Given the description of an element on the screen output the (x, y) to click on. 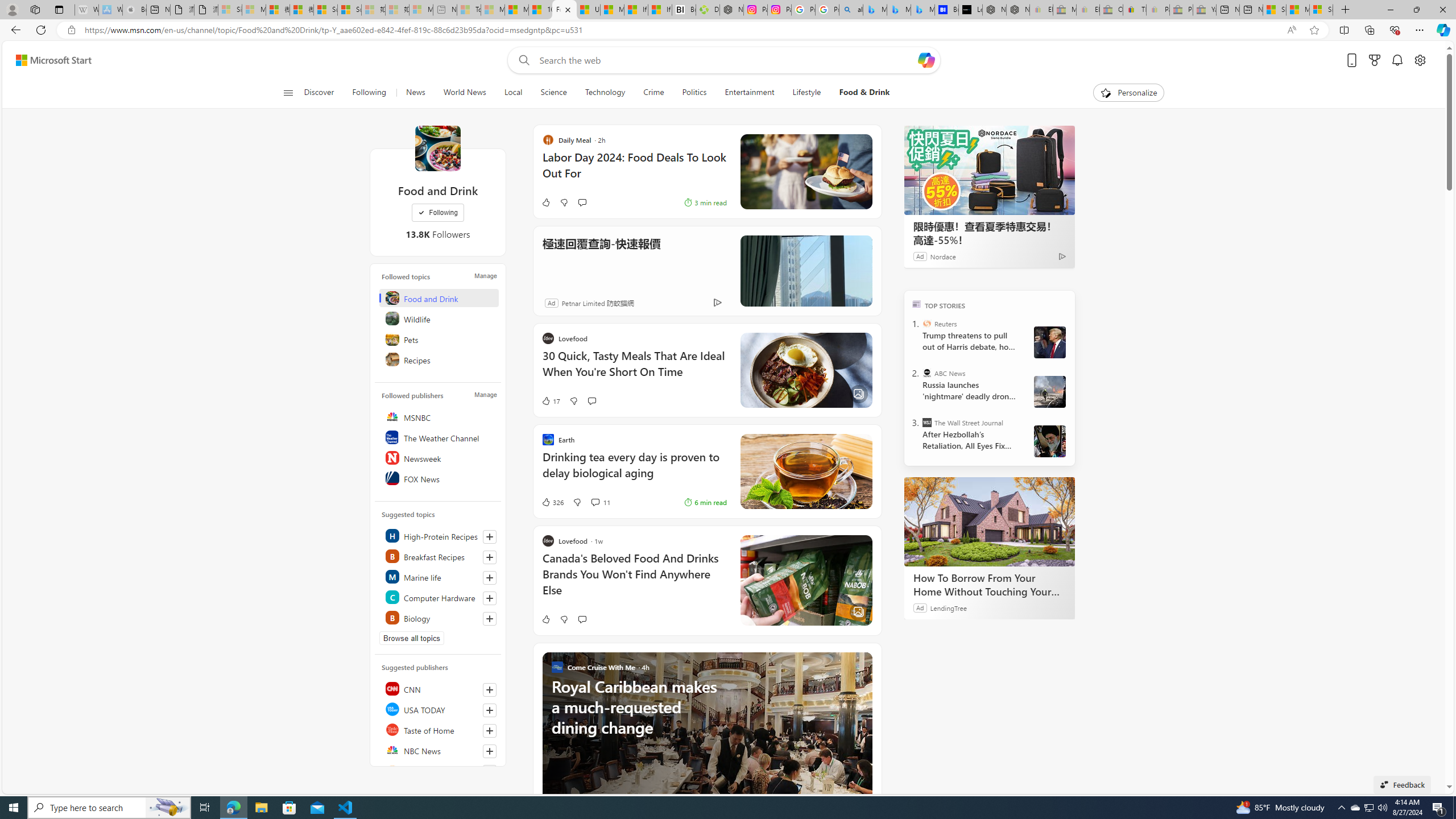
Pets (439, 339)
Follow this source (489, 771)
View comments 11 Comment (594, 501)
Notifications (1397, 60)
Local (513, 92)
Labor Day 2024: Food Deals To Look Out For (633, 171)
Like (544, 619)
Open settings (1420, 60)
